Given the description of an element on the screen output the (x, y) to click on. 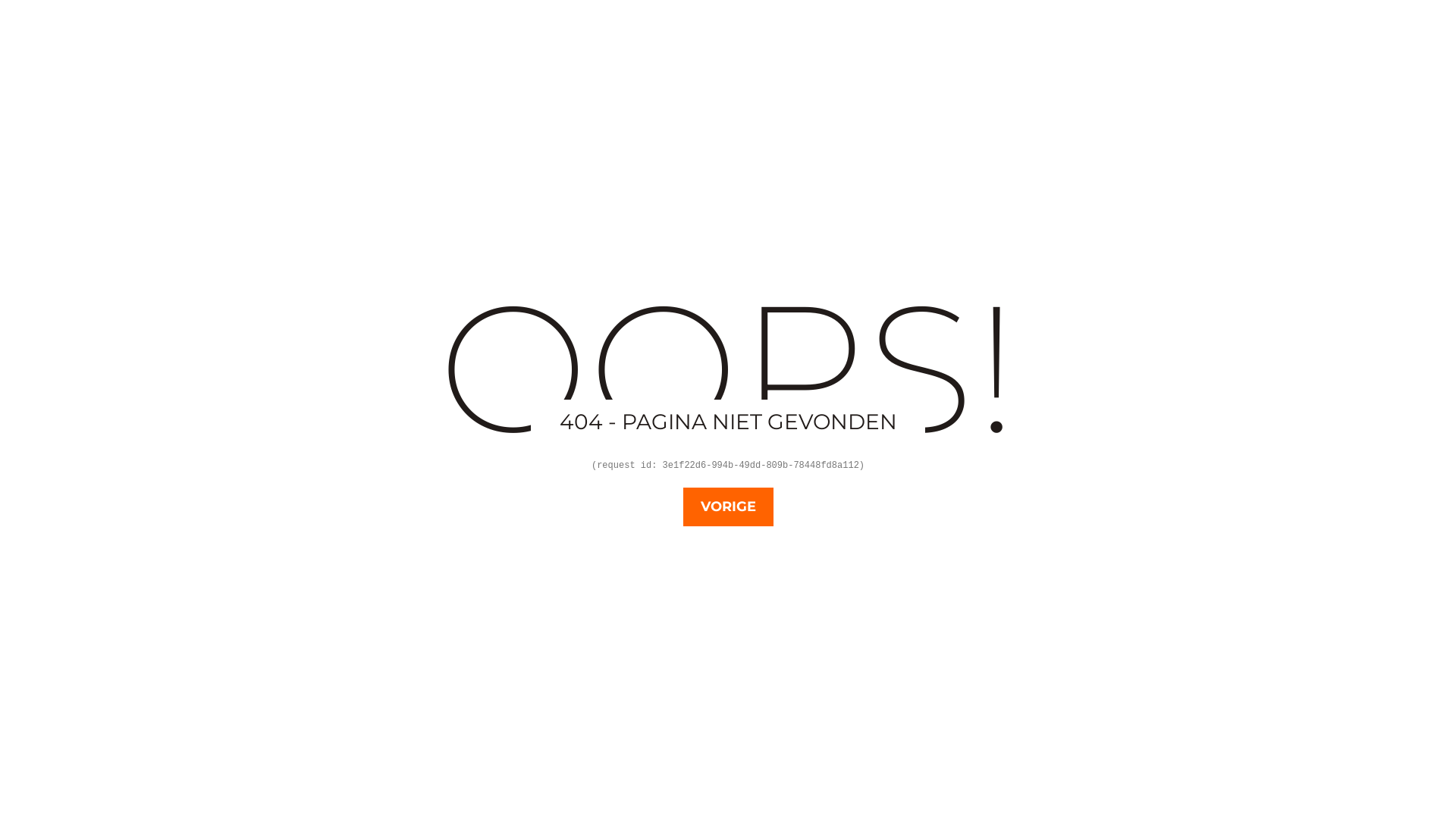
VORIGE Element type: text (727, 506)
